Given the description of an element on the screen output the (x, y) to click on. 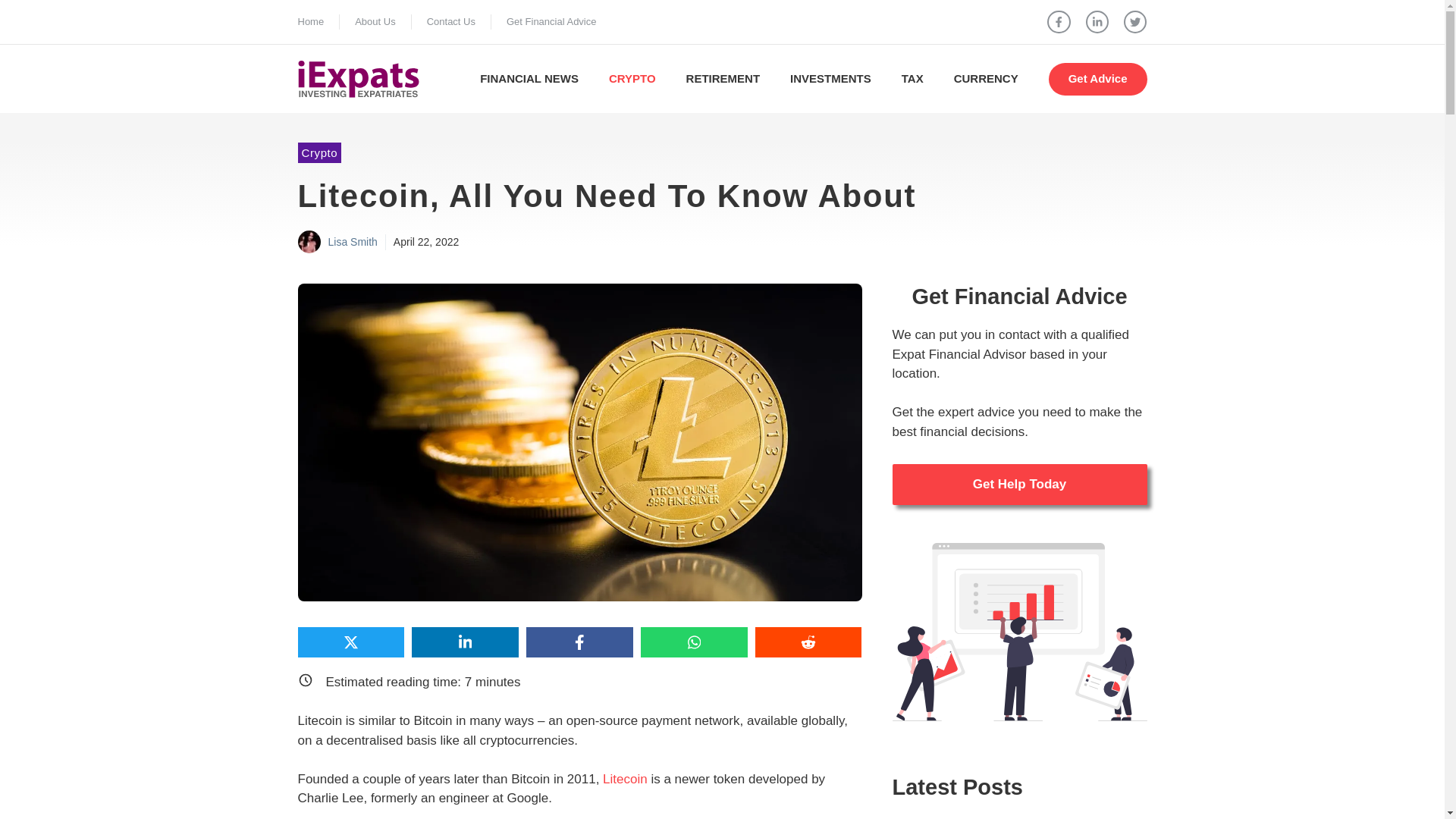
Get Advice (1097, 79)
Litecoin (624, 779)
Contact Us (451, 21)
About Us (374, 21)
Home (310, 21)
Crypto (318, 152)
Get Financial Advice (551, 21)
Lisa Smith (352, 241)
